Given the description of an element on the screen output the (x, y) to click on. 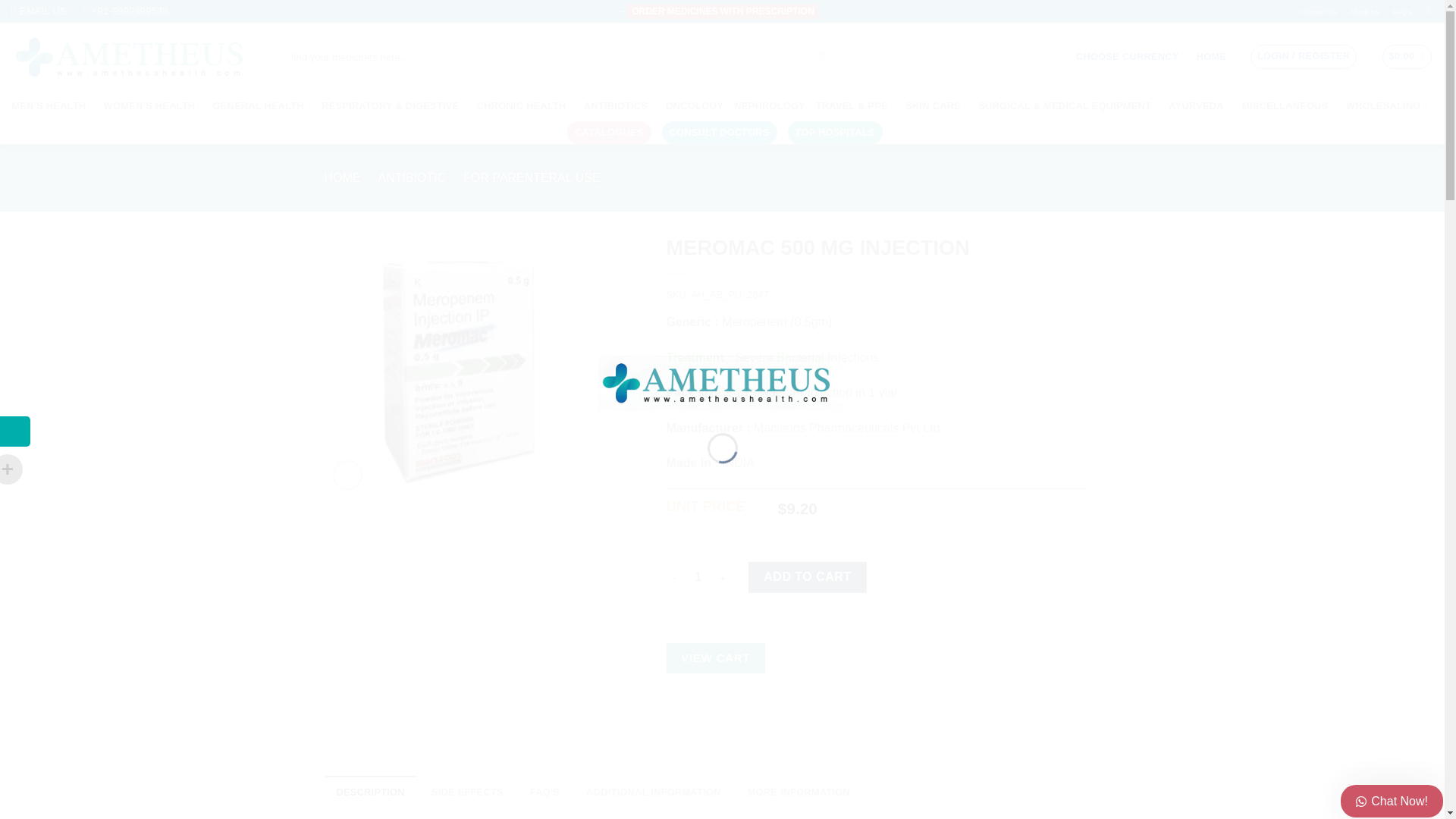
1 (697, 576)
Contact Us (1318, 11)
CHOOSE CURRENCY (1130, 57)
Zoom (347, 474)
ORDER MEDICINES WITH PRESCRIPTION (722, 11)
EMAIL US (38, 11)
Ametheus Health (720, 381)
MEROMAC 500 MG INJECTION- Ametheus Health (454, 365)
HOME (1210, 56)
Qty (697, 576)
Cart (1406, 56)
FAQ's (1401, 11)
Ametheus Health (135, 57)
About Us (1363, 11)
Search (821, 57)
